Given the description of an element on the screen output the (x, y) to click on. 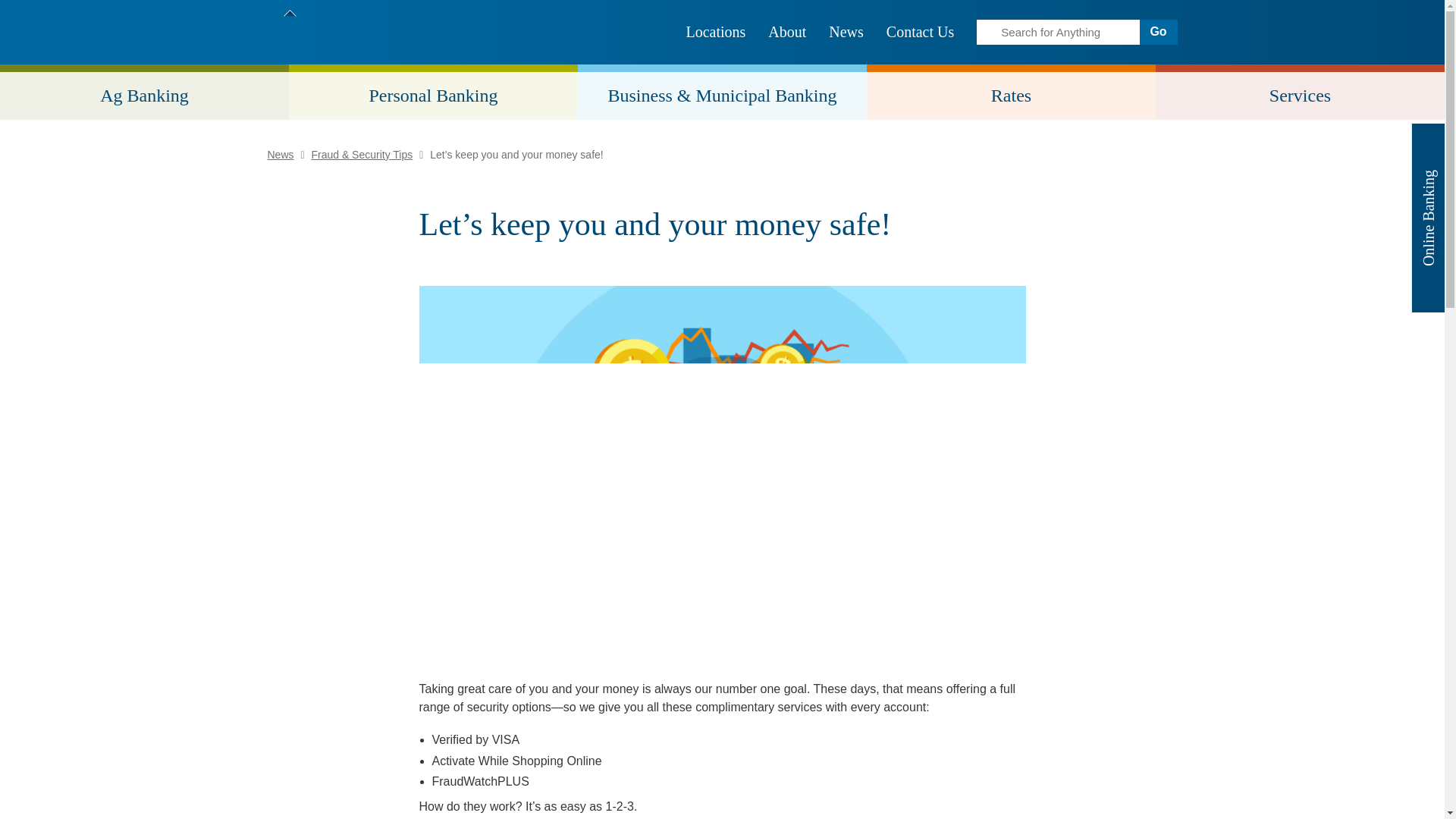
Ag Banking (144, 92)
Go (1157, 32)
Skip to content (7, 7)
Locations (715, 31)
Contact Us (919, 31)
About (787, 31)
News (845, 31)
